Given the description of an element on the screen output the (x, y) to click on. 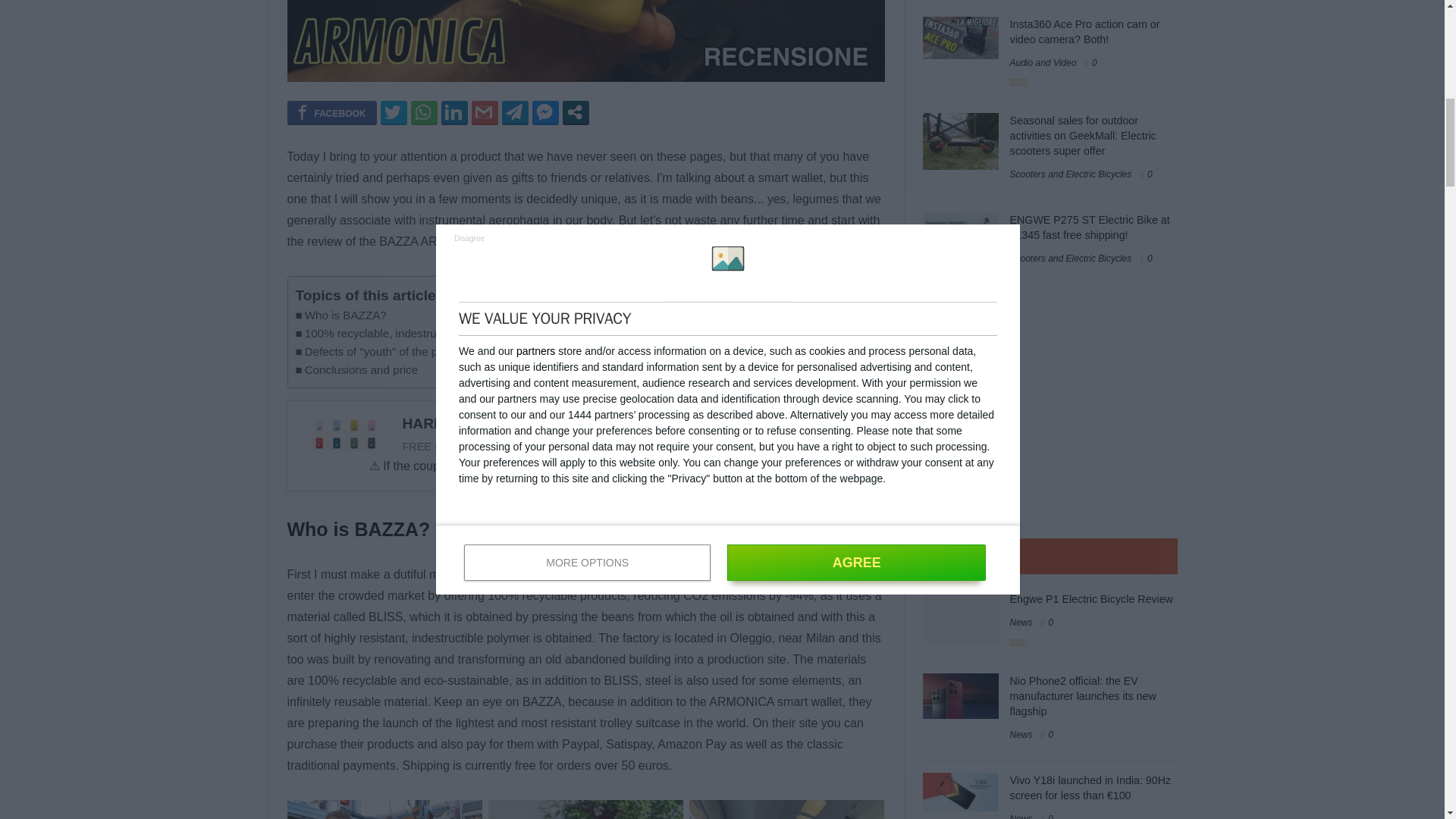
Share on Telegram (515, 111)
Conclusions and price (357, 370)
Send on Facebook Messenger (545, 111)
Send by Gmail (484, 111)
Who is BAZZA? (341, 315)
Open modal social networks (575, 111)
Tweet (393, 111)
Share on WhatsApp (424, 111)
Share on Facebook (330, 111)
Defects of "youth" of the product (382, 352)
Share on Linkedin (454, 111)
